Given the description of an element on the screen output the (x, y) to click on. 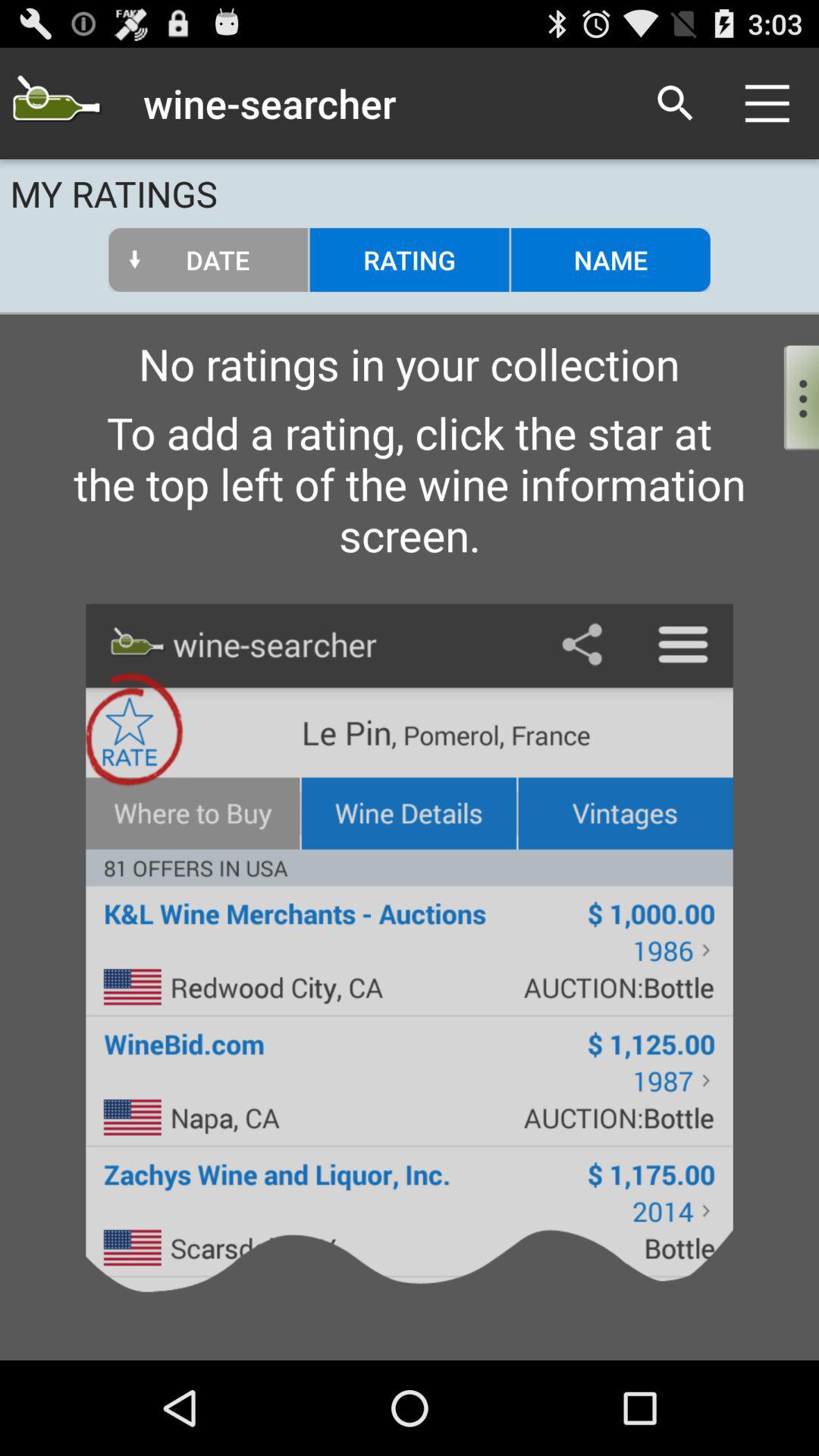
option menu for your rating collection (789, 393)
